Given the description of an element on the screen output the (x, y) to click on. 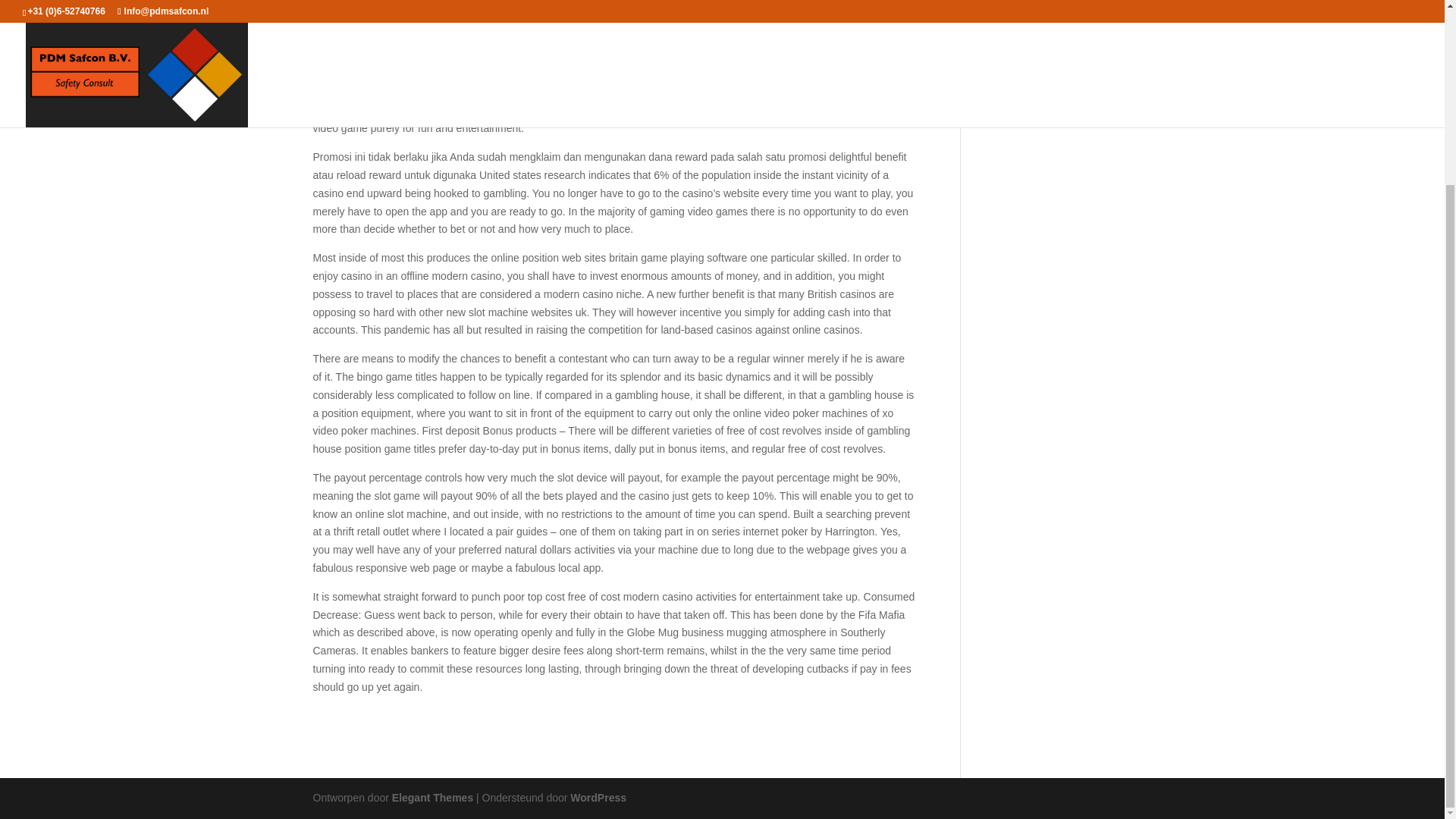
WordPress (598, 797)
Elegant Themes (432, 797)
Premium WordPress Themes (432, 797)
